Given the description of an element on the screen output the (x, y) to click on. 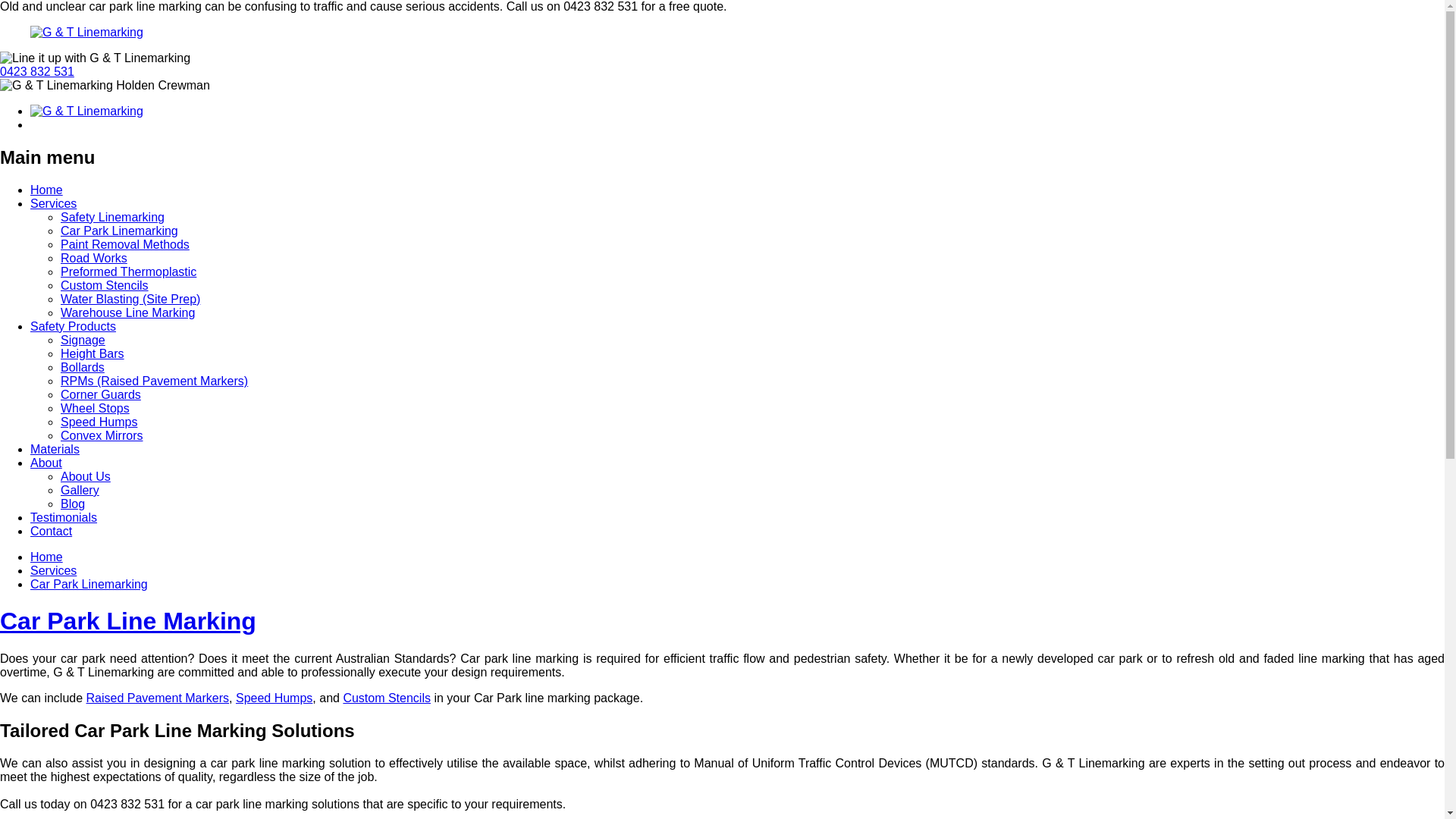
Services Element type: text (53, 203)
Water Blasting (Site Prep) Element type: text (130, 298)
About Element type: text (46, 462)
Safety Products Element type: text (73, 326)
Testimonials Element type: text (63, 517)
Home Element type: text (46, 189)
Height Bars Element type: text (92, 353)
Gallery Element type: text (79, 489)
Wheel Stops Element type: text (94, 407)
Contact Element type: text (51, 530)
Home Element type: text (46, 556)
Bollards Element type: text (82, 366)
Signage Element type: text (82, 339)
Paint Removal Methods Element type: text (124, 244)
Speed Humps Element type: text (273, 697)
Convex Mirrors Element type: text (101, 435)
Car Park Line Marking Element type: text (128, 620)
0423 832 531 Element type: text (37, 71)
Preformed Thermoplastic Element type: text (128, 271)
Materials Element type: text (54, 448)
G & T Linemarking Element type: hover (722, 32)
Raised Pavement Markers Element type: text (157, 697)
Speed Humps Element type: text (98, 421)
Services Element type: text (53, 570)
Safety Linemarking Element type: text (112, 216)
Car Park Linemarking Element type: text (119, 230)
About Us Element type: text (85, 476)
Warehouse Line Marking Element type: text (127, 312)
RPMs (Raised Pavement Markers) Element type: text (153, 380)
Blog Element type: text (72, 503)
Corner Guards Element type: text (100, 394)
Custom Stencils Element type: text (104, 285)
Car Park Linemarking Element type: text (88, 583)
Custom Stencils Element type: text (386, 697)
Road Works Element type: text (93, 257)
